Given the description of an element on the screen output the (x, y) to click on. 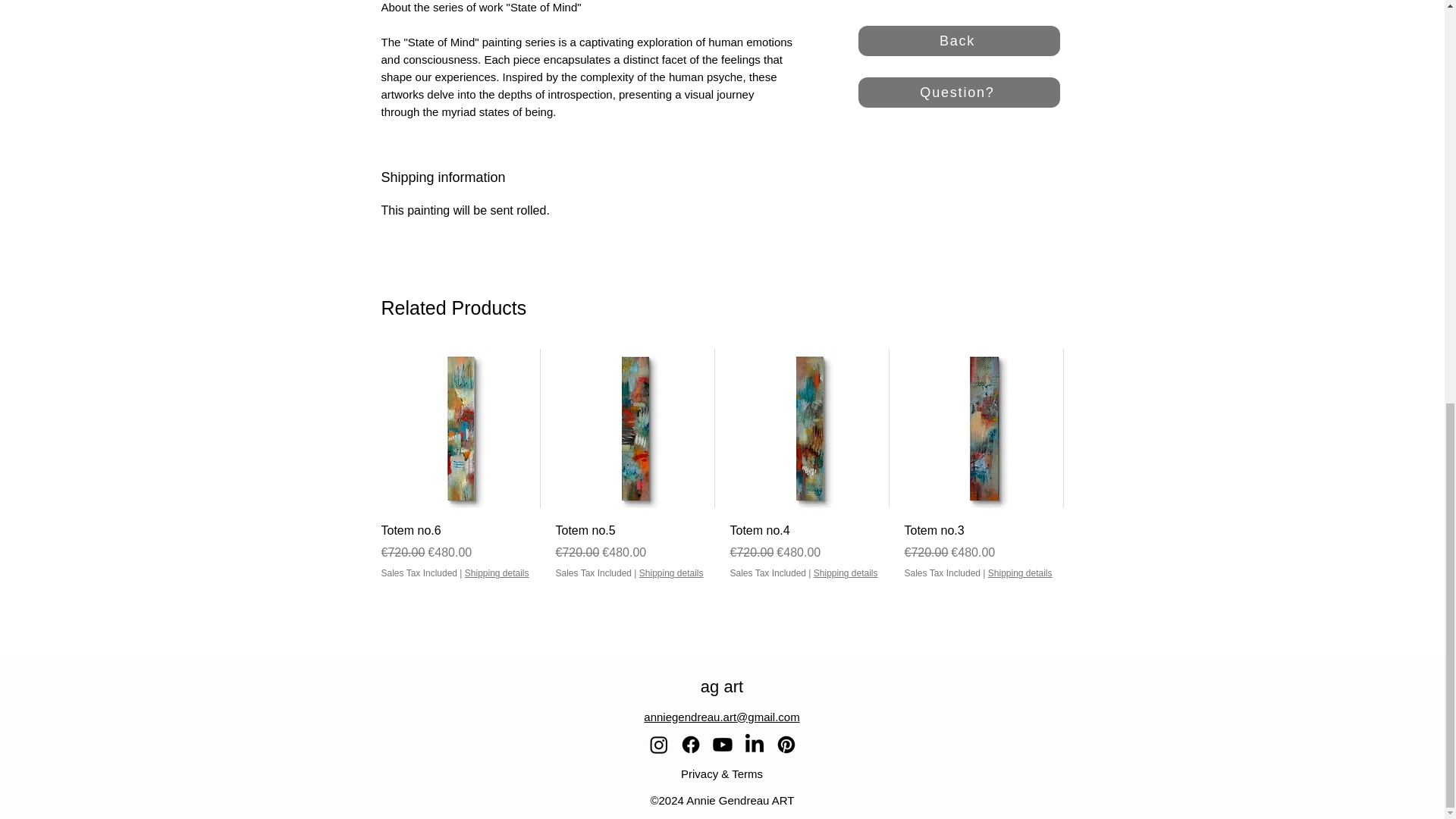
Shipping details (845, 573)
Shipping details (671, 573)
Shipping details (496, 573)
Question? (959, 91)
Shipping details (1020, 573)
Back (959, 40)
